Given the description of an element on the screen output the (x, y) to click on. 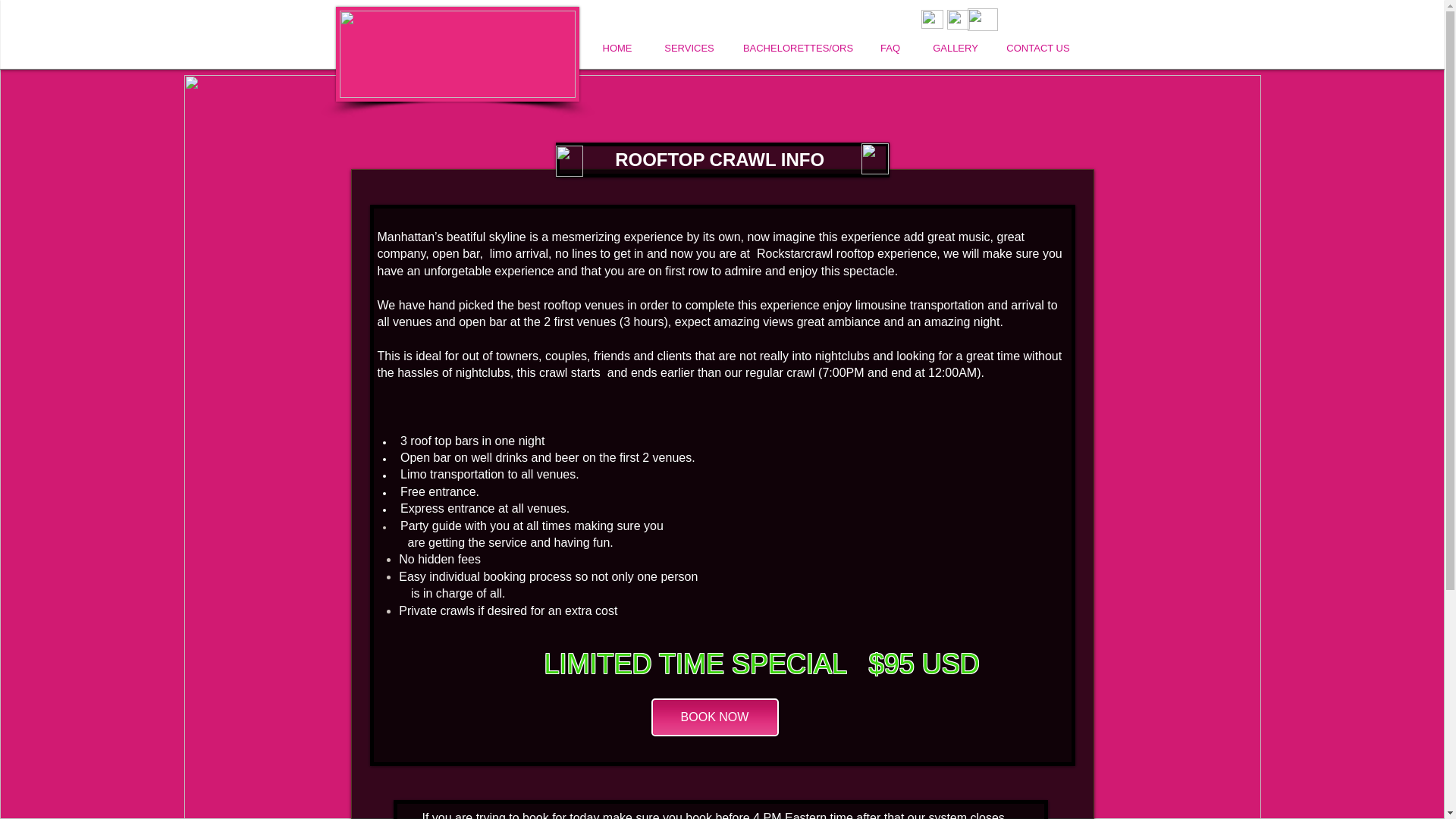
GALLERY (955, 48)
CONTACT US (1038, 48)
SERVICES (688, 48)
HOME (617, 48)
FAQ (890, 48)
